Given the description of an element on the screen output the (x, y) to click on. 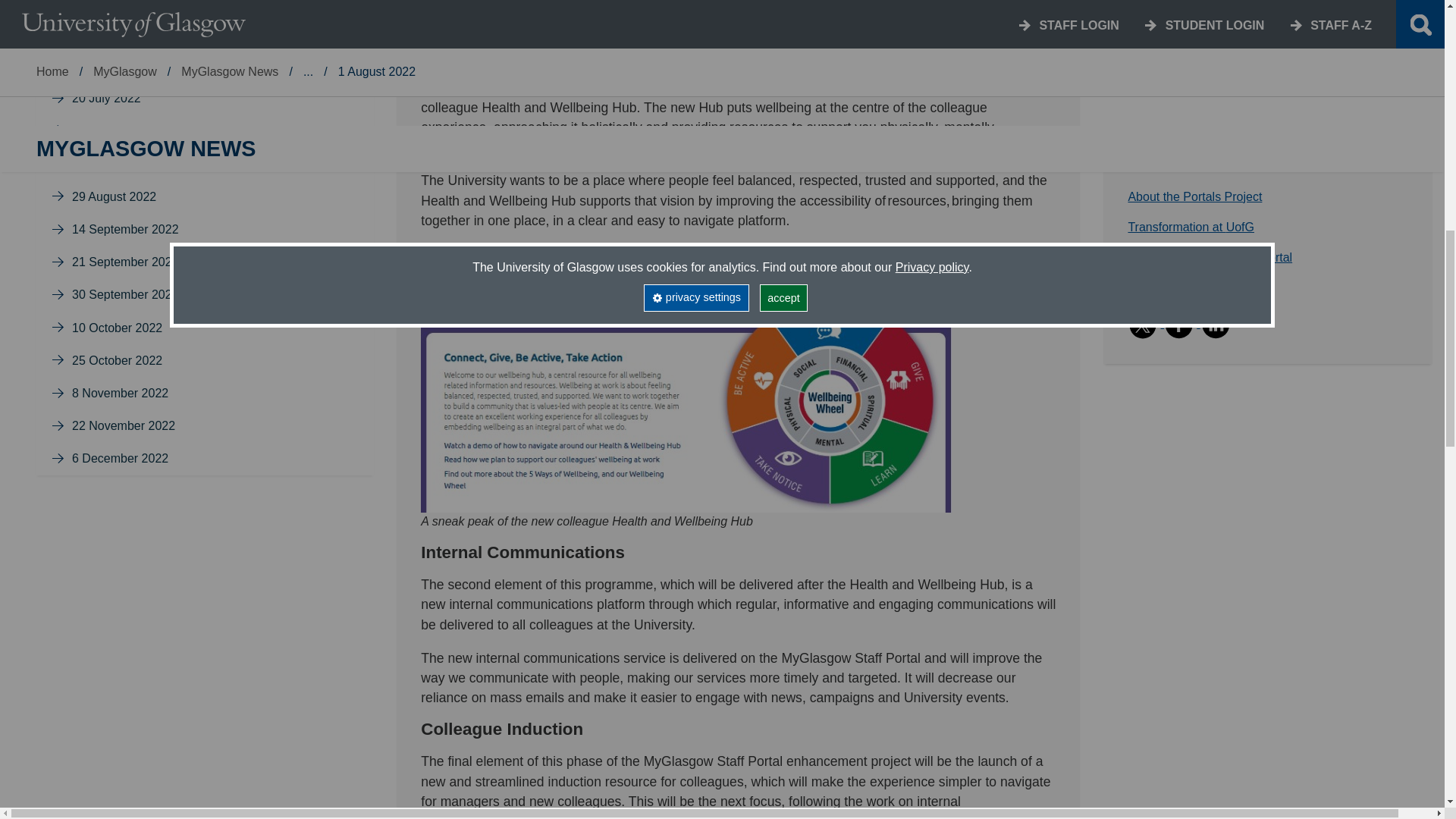
A sneak peak of the new colleague Health and Wellbeing Hub (686, 394)
